Given the description of an element on the screen output the (x, y) to click on. 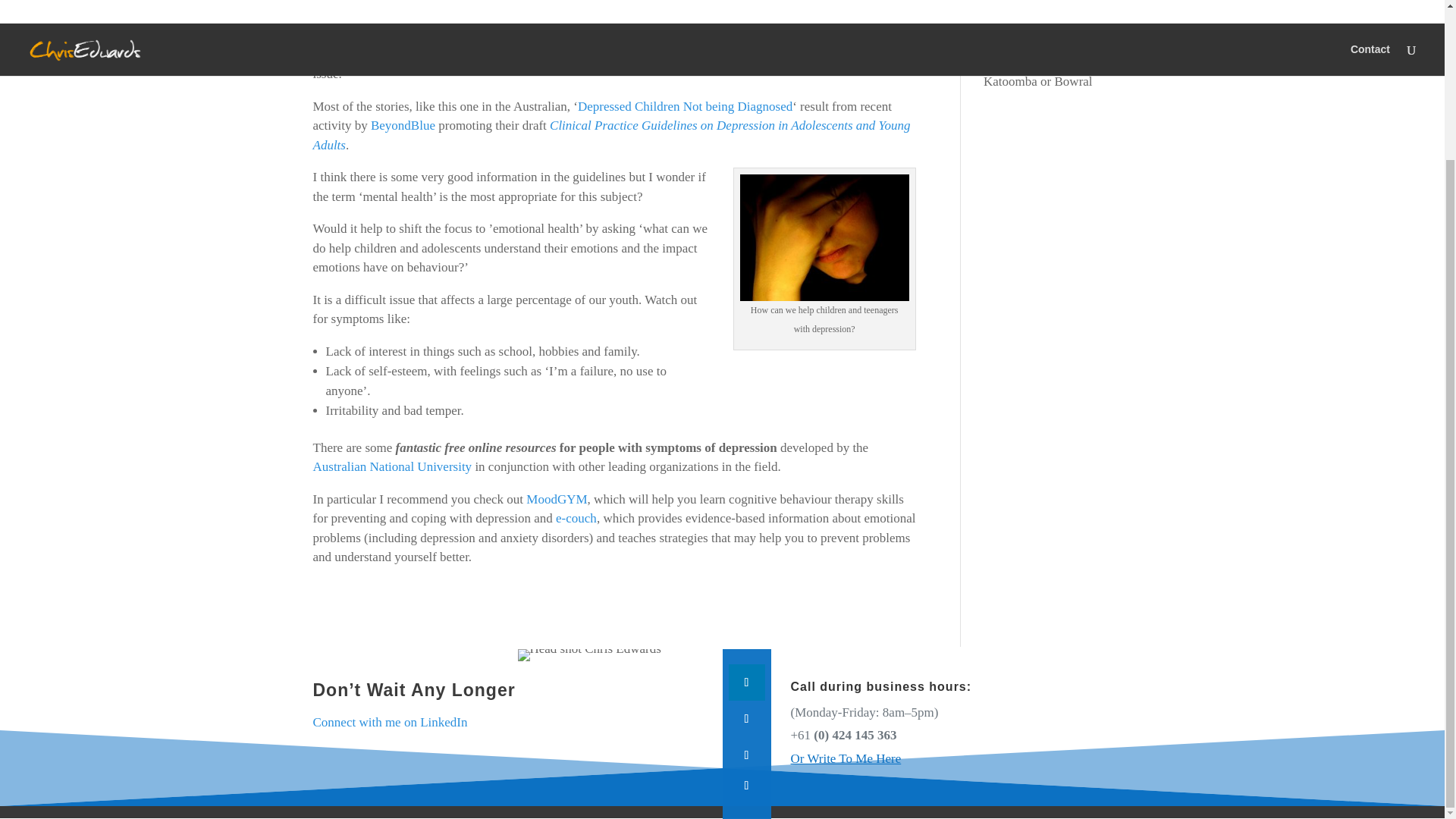
Connect with me on LinkedIn (390, 721)
worry (823, 237)
Or Write To Me Here (845, 758)
Depressed Children Not being Diagnosed (685, 105)
Australian National University (392, 466)
Pondering (388, 0)
BeyondBlue (403, 124)
MoodGYM (555, 498)
Follow on X (746, 755)
Follow on LinkedIn (746, 682)
